Given the description of an element on the screen output the (x, y) to click on. 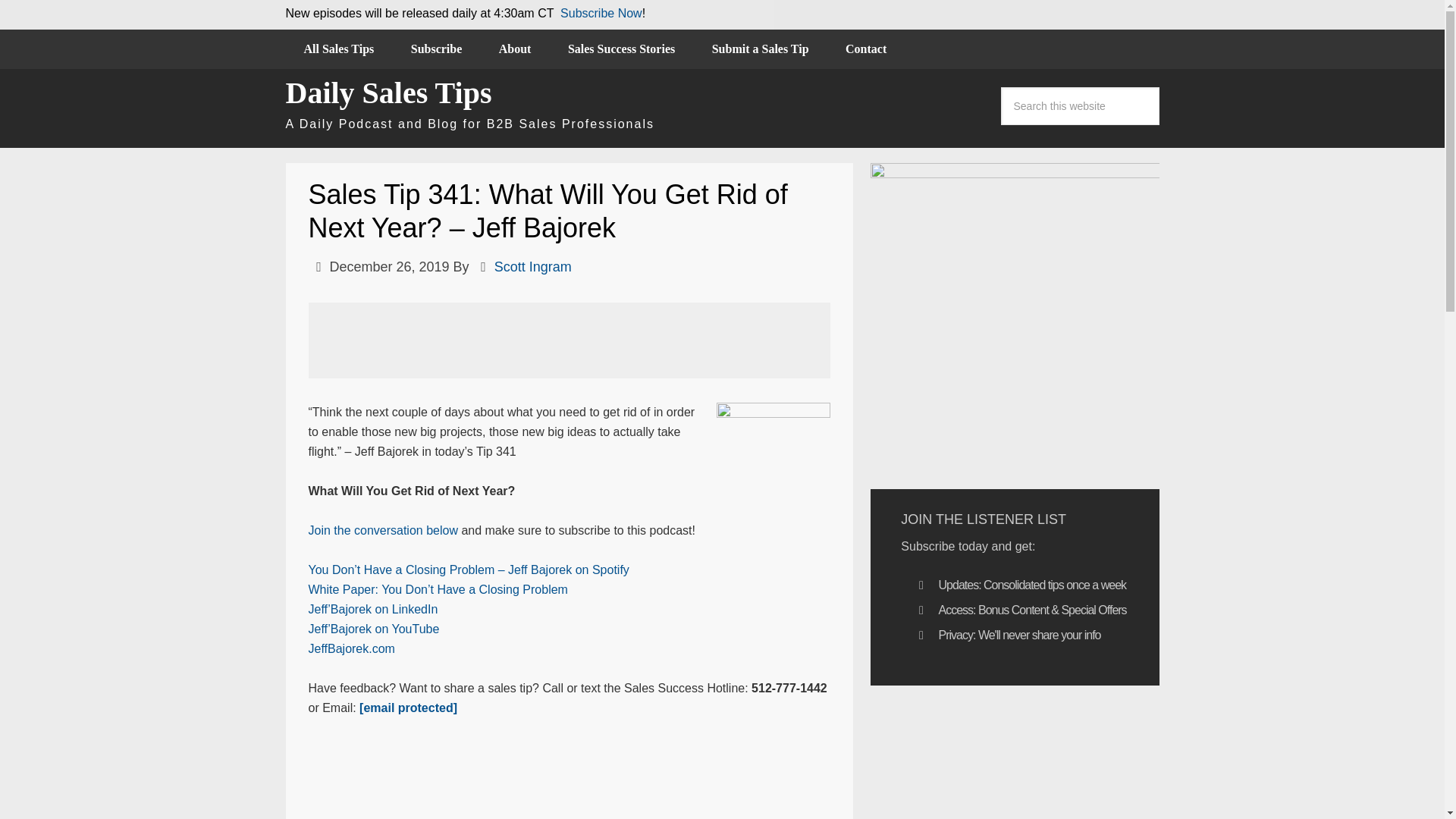
Daily Sales Tips (388, 92)
All Sales Tips (338, 48)
Subscribe (436, 48)
Subscribe Now (601, 12)
Submit a Sales Tip (760, 48)
JeffBajorek.com (350, 648)
About (515, 48)
Sales Success Stories (621, 48)
Join the conversation below (382, 530)
Contact (865, 48)
